Given the description of an element on the screen output the (x, y) to click on. 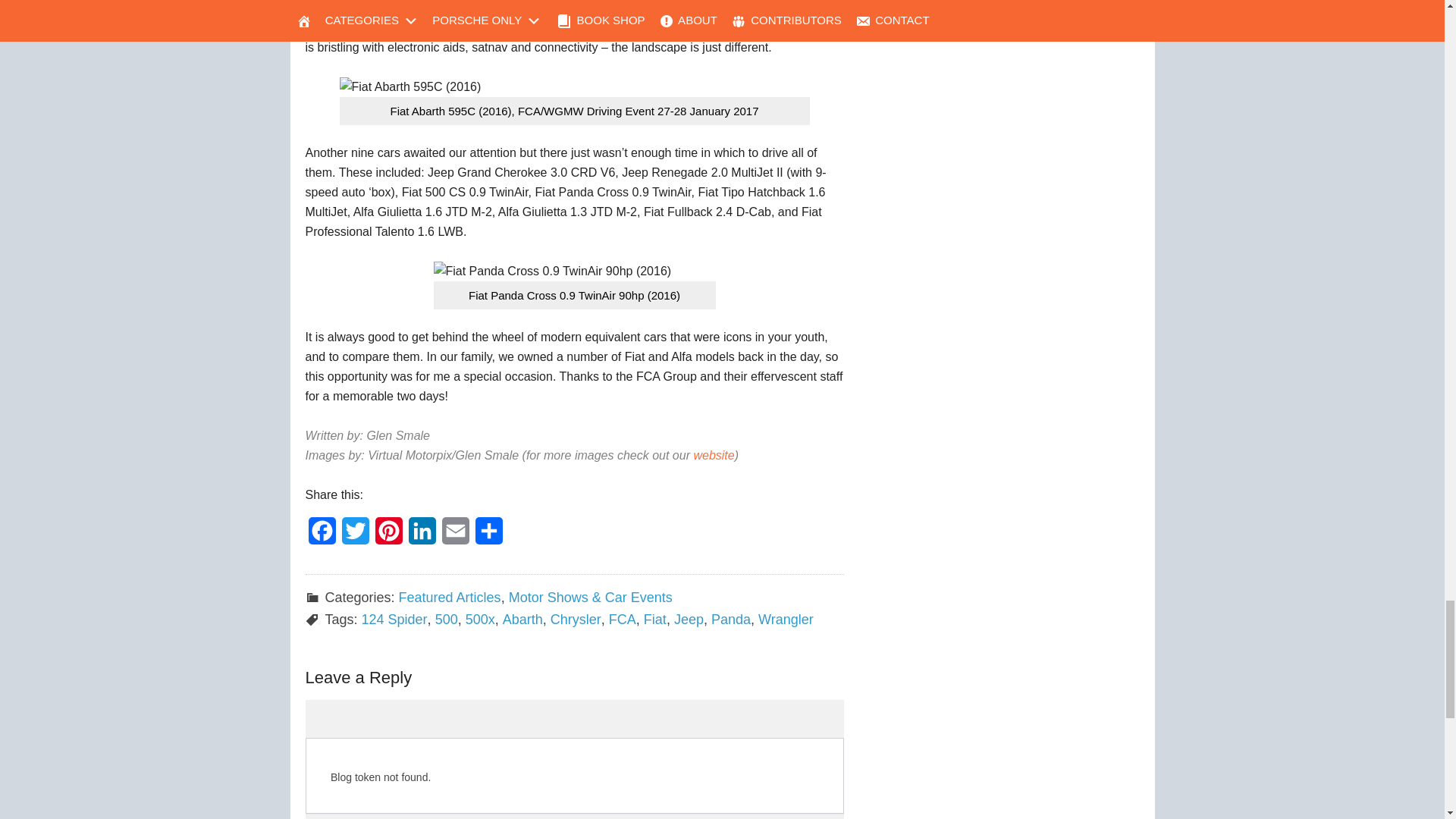
Email (454, 535)
Comment Form (573, 759)
Facebook (320, 535)
LinkedIn (421, 535)
Pinterest (387, 535)
Twitter (354, 535)
